Given the description of an element on the screen output the (x, y) to click on. 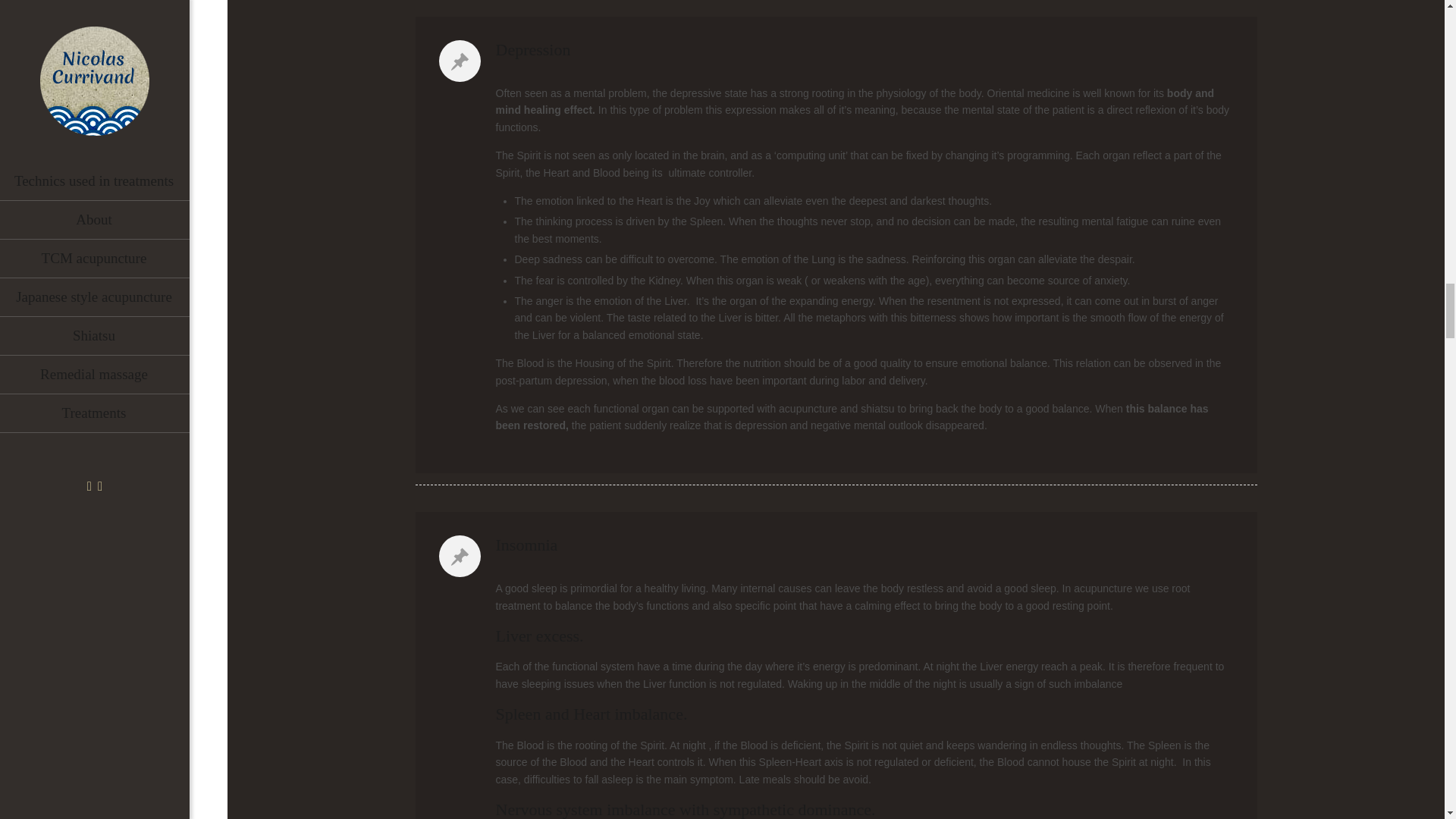
Insomnia (835, 545)
Depression (835, 49)
Depression (533, 49)
Insomnia (526, 544)
